Given the description of an element on the screen output the (x, y) to click on. 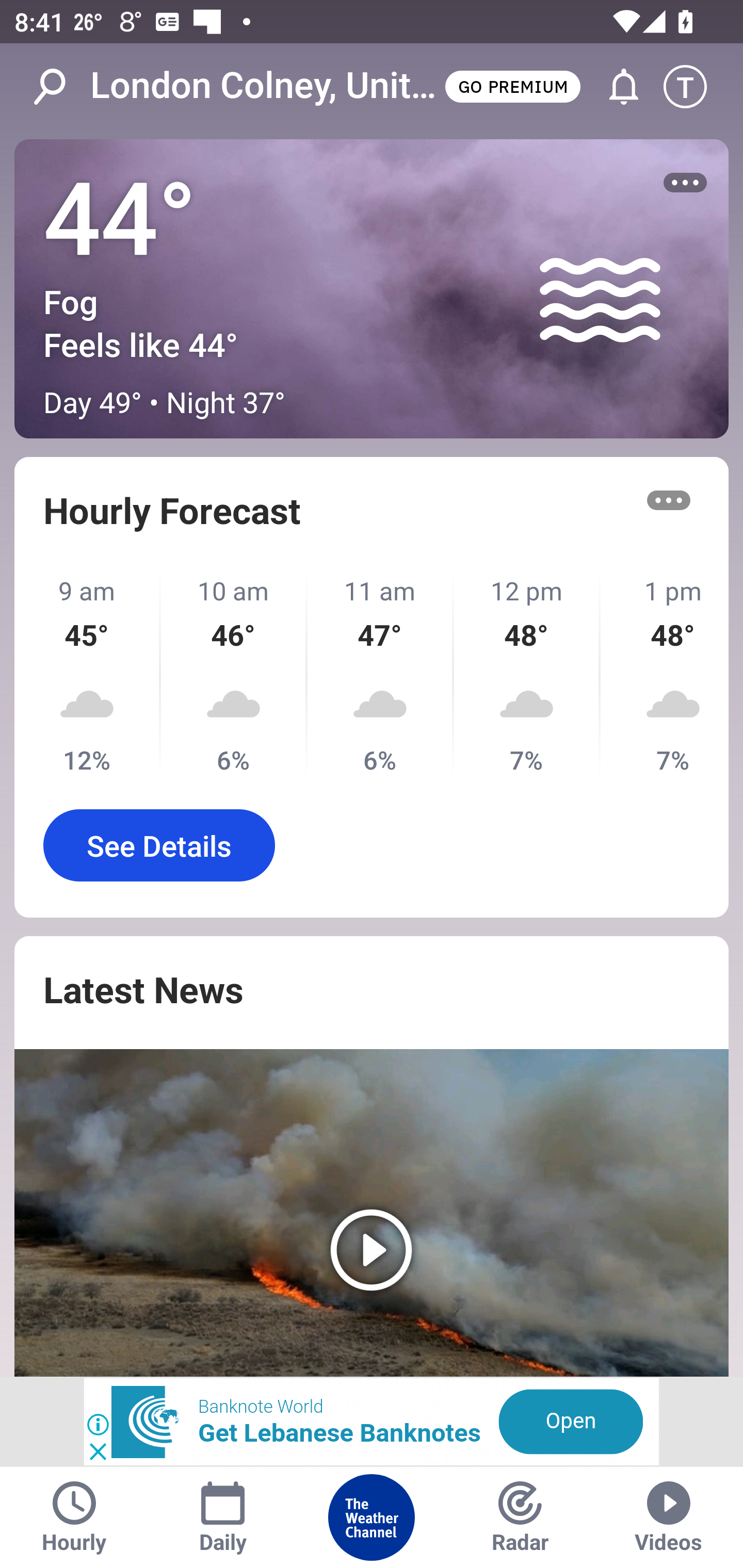
Search (59, 86)
Go to Alerts and Notifications (614, 86)
Setting icon T (694, 86)
London Colney, United Kingdom (265, 85)
GO PREMIUM (512, 85)
More options (684, 182)
More options (668, 500)
9 am 45° 12% (87, 674)
10 am 46° 6% (234, 674)
11 am 47° 6% (380, 674)
12 pm 48° 7% (526, 674)
1 pm 48° 7% (664, 674)
See Details (158, 845)
Play (371, 1212)
Hourly Tab Hourly (74, 1517)
Daily Tab Daily (222, 1517)
Radar Tab Radar (519, 1517)
Videos Tab Videos (668, 1517)
